Given the description of an element on the screen output the (x, y) to click on. 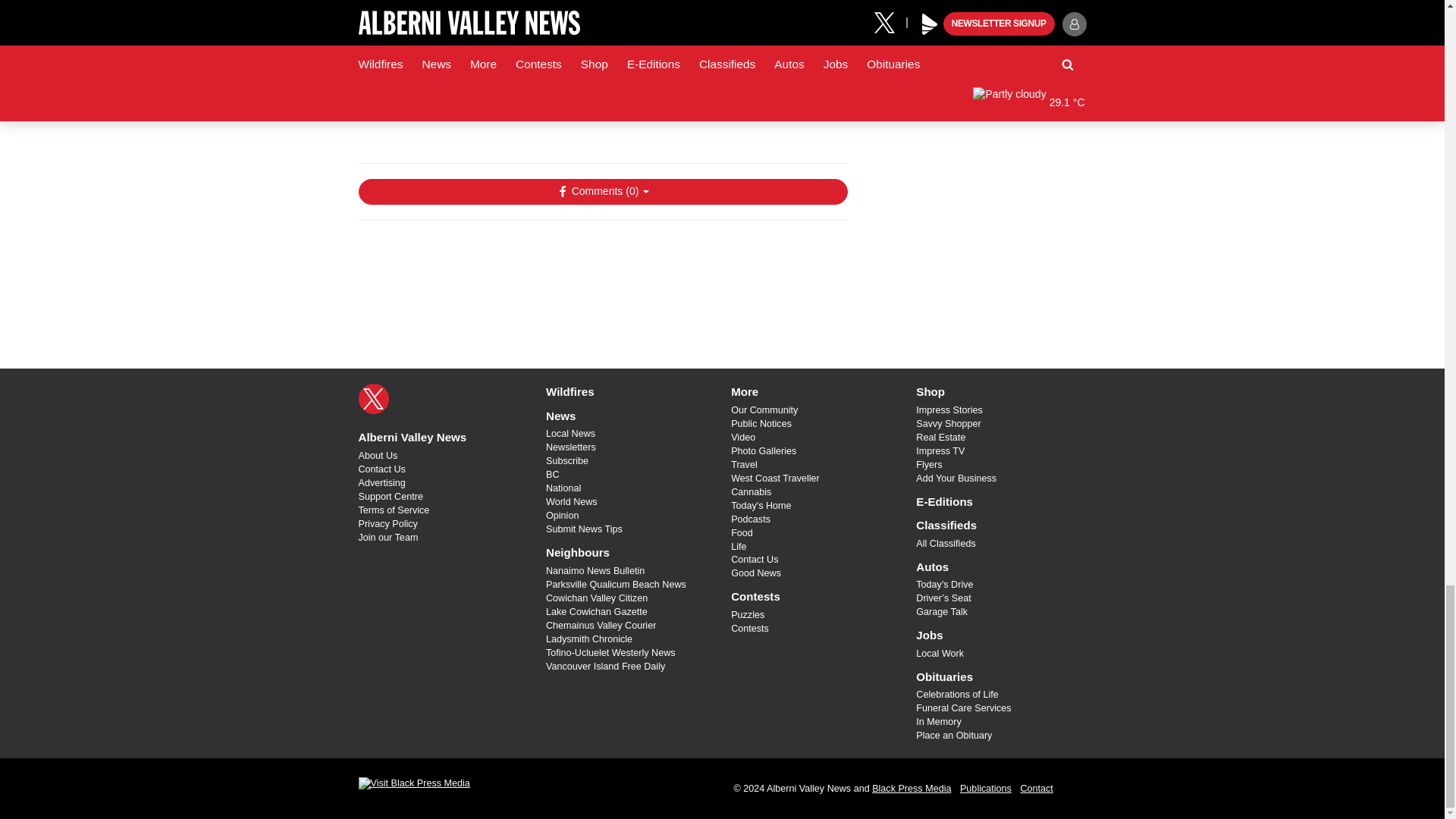
Show Comments (602, 191)
X (373, 399)
